Given the description of an element on the screen output the (x, y) to click on. 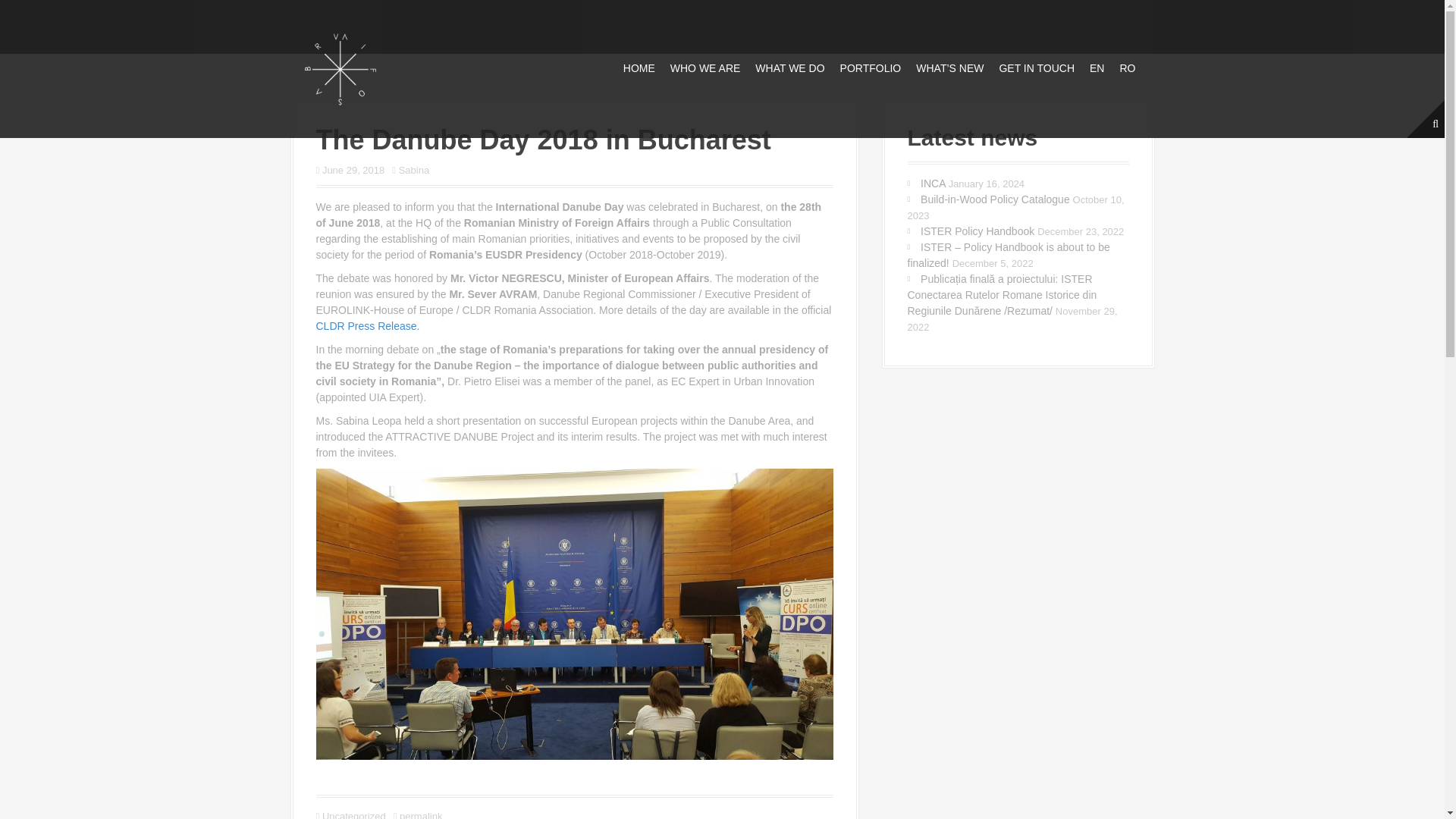
Urbasofia (339, 68)
PORTFOLIO (870, 68)
WHO WE ARE (705, 68)
WHAT WE DO (789, 68)
HOME (639, 68)
